Given the description of an element on the screen output the (x, y) to click on. 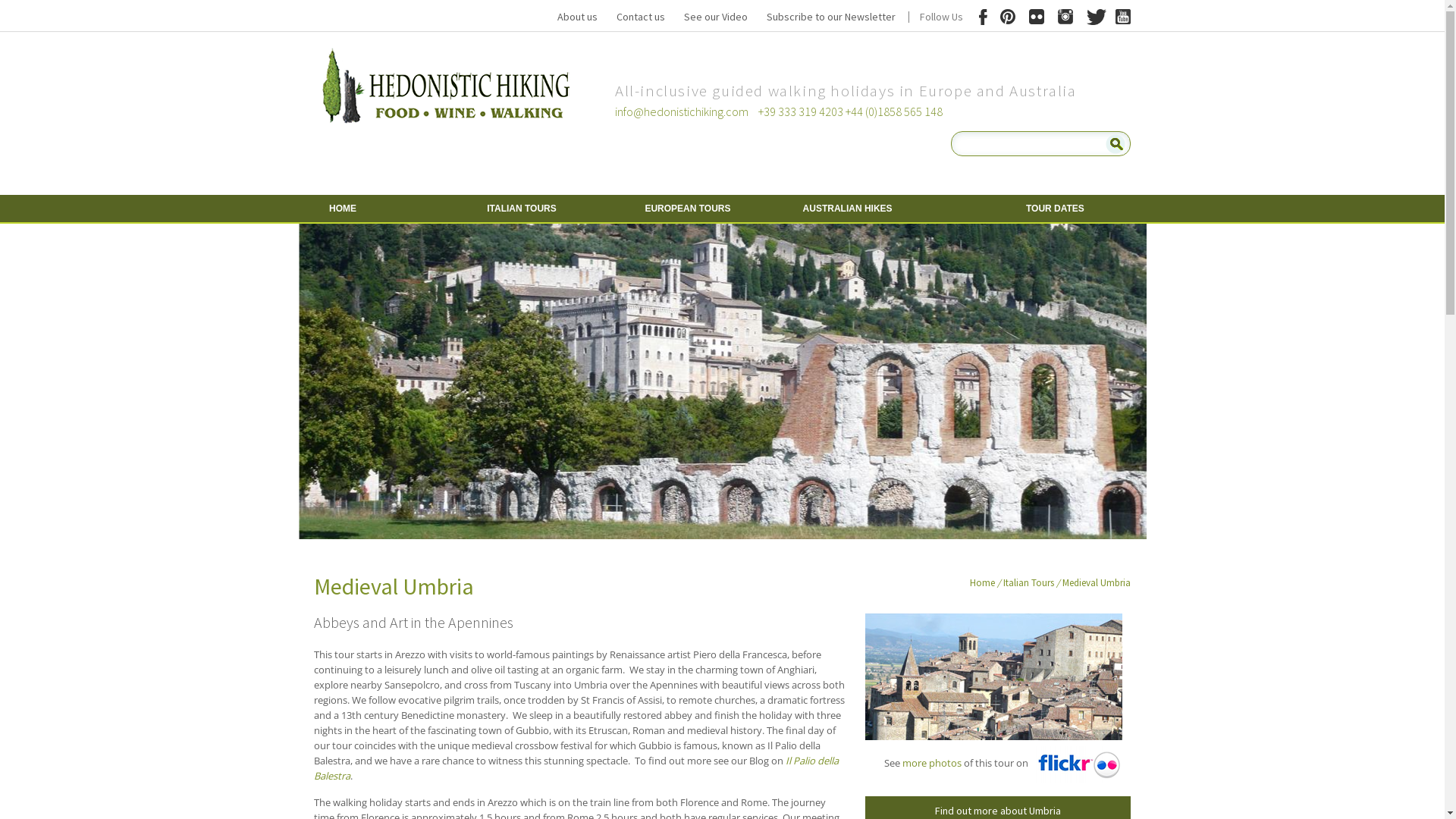
HOME Element type: text (382, 208)
Search Element type: text (1115, 143)
more photos Element type: text (931, 762)
Italian Tours Element type: text (1028, 582)
Contact us Element type: text (640, 16)
+39 333 319 4203 +44 (0)1858 565 148 Element type: text (850, 111)
See our Video Element type: text (715, 16)
Enter the terms you wish to search for. Element type: hover (1034, 143)
Medieval Umbria Element type: text (1096, 582)
Home Element type: text (981, 582)
Il Palio della Balestra Element type: text (575, 767)
About us Element type: text (577, 16)
info@hedonistichiking.com Element type: text (681, 111)
ITALIAN TOURS Element type: text (540, 208)
Subscribe to our Newsletter Element type: text (830, 16)
TOUR DATES Element type: text (1014, 208)
AUSTRALIAN HIKES Element type: text (856, 208)
EUROPEAN TOURS Element type: text (698, 208)
